Given the description of an element on the screen output the (x, y) to click on. 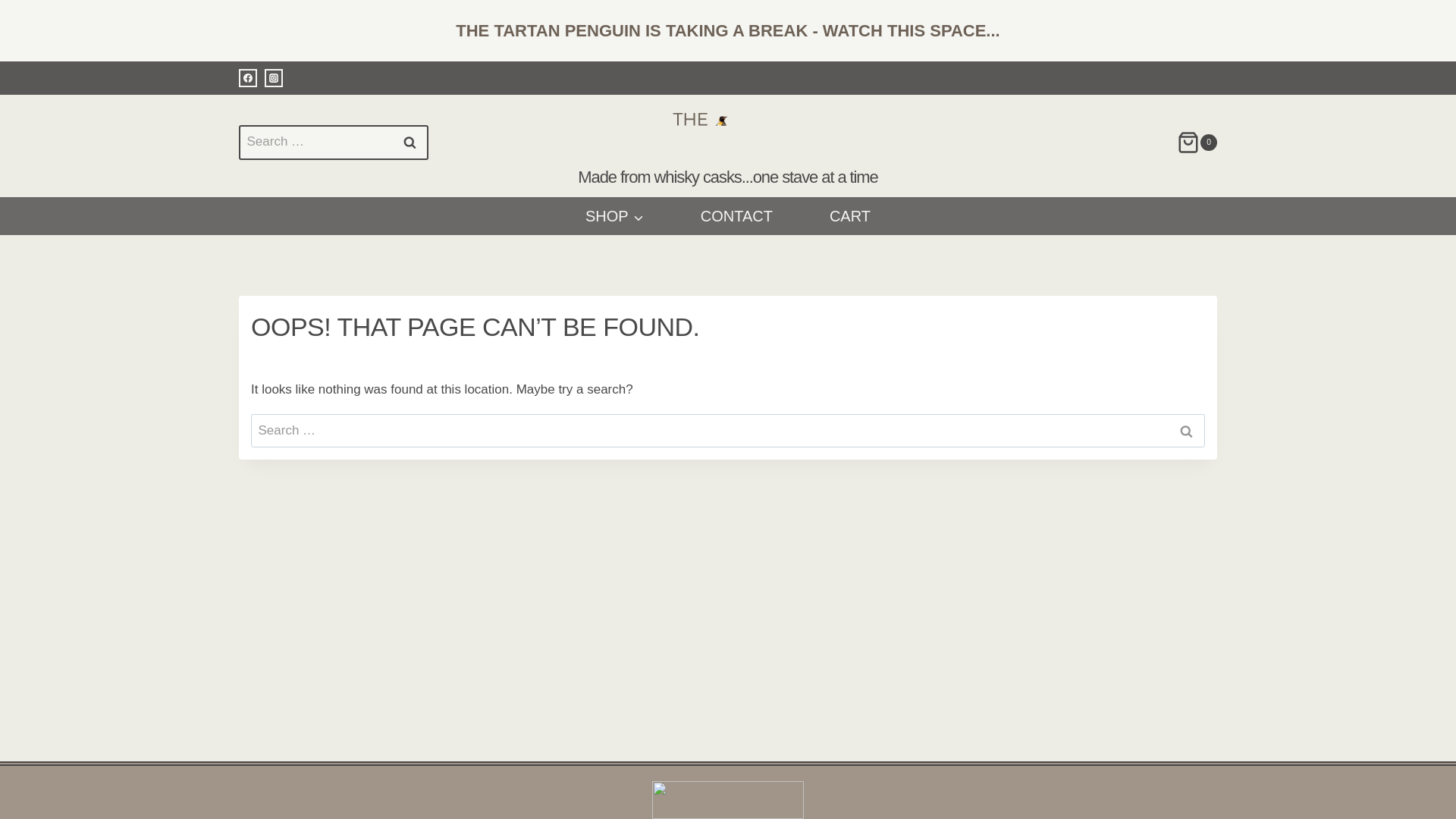
CART (849, 216)
Search (409, 142)
SHOP (614, 216)
CONTACT (735, 216)
Search (1186, 430)
Search (409, 142)
Made from whisky casks...one stave at a time (727, 150)
0 (1196, 142)
Search (409, 142)
Search (1186, 430)
